Given the description of an element on the screen output the (x, y) to click on. 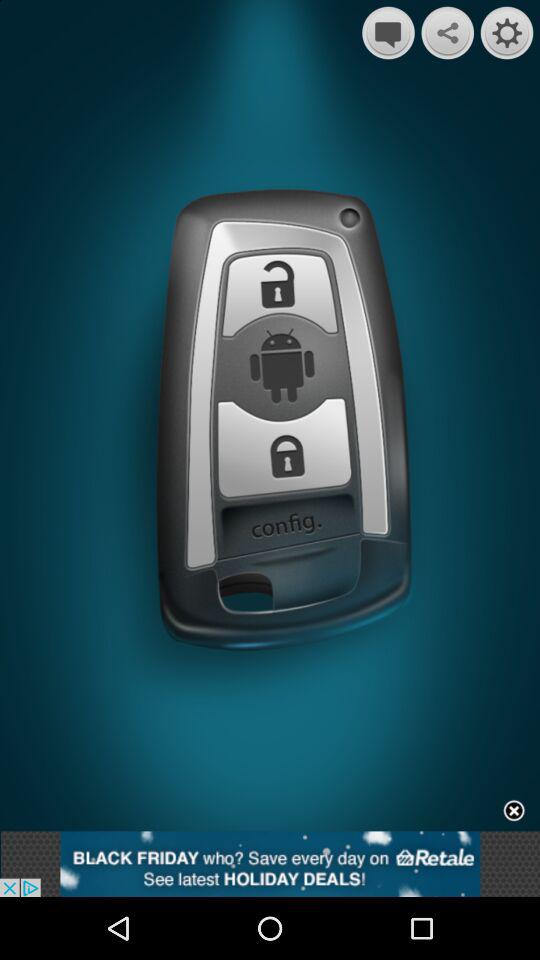
go to lock (285, 446)
